Given the description of an element on the screen output the (x, y) to click on. 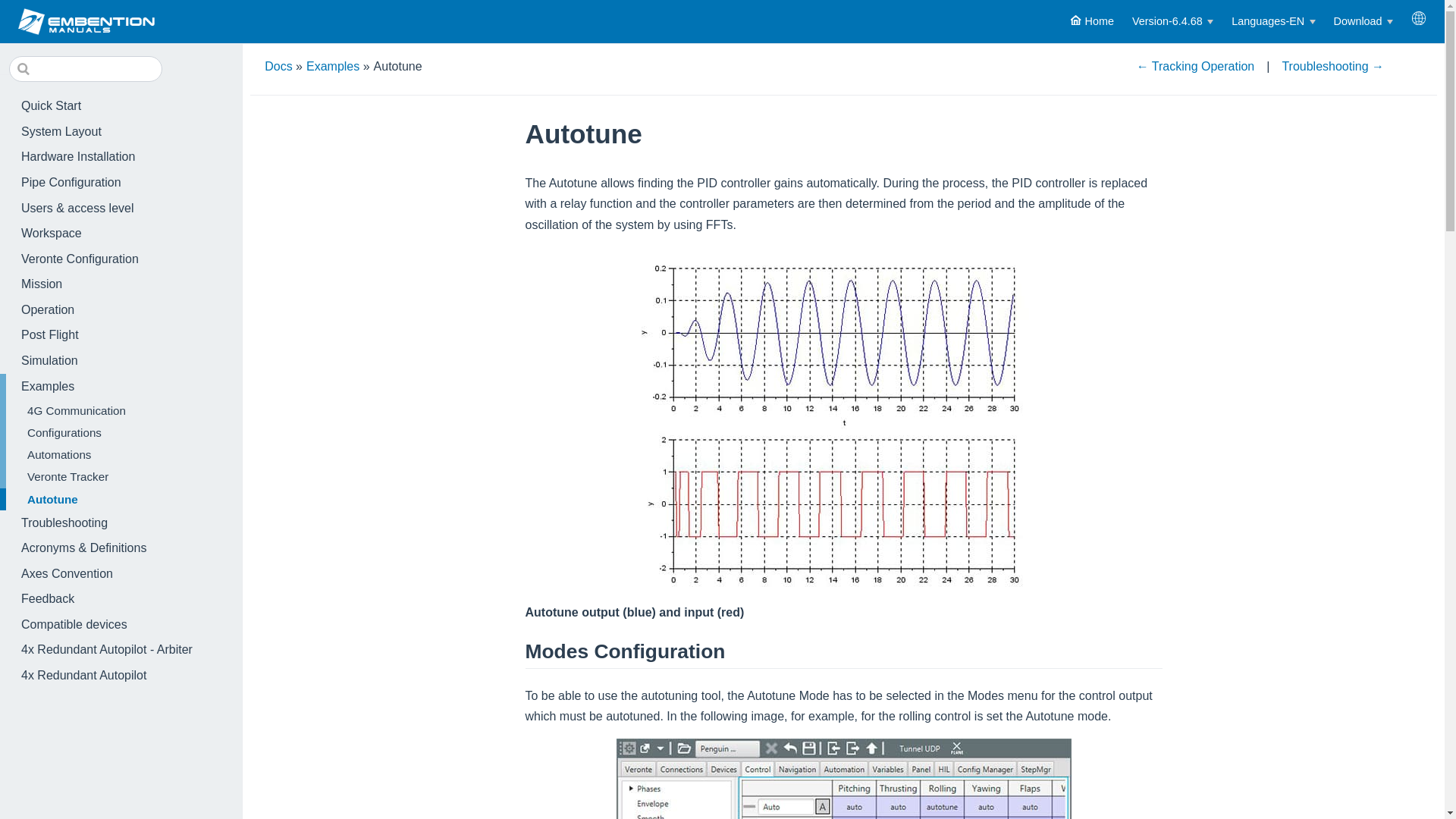
Hardware Installation (120, 157)
Autotune (120, 499)
Configurations (120, 432)
Veronte Tracker (120, 476)
previous chapter (1196, 65)
Automations (120, 454)
Download (1363, 21)
next chapter (1332, 65)
Pipe Configuration (120, 182)
Veronte Configuration (120, 258)
4x Redundant Autopilot (120, 675)
4x Redundant Autopilot - Arbiter (120, 650)
Home (1091, 21)
Workspace (120, 233)
Quick Start (120, 106)
